Given the description of an element on the screen output the (x, y) to click on. 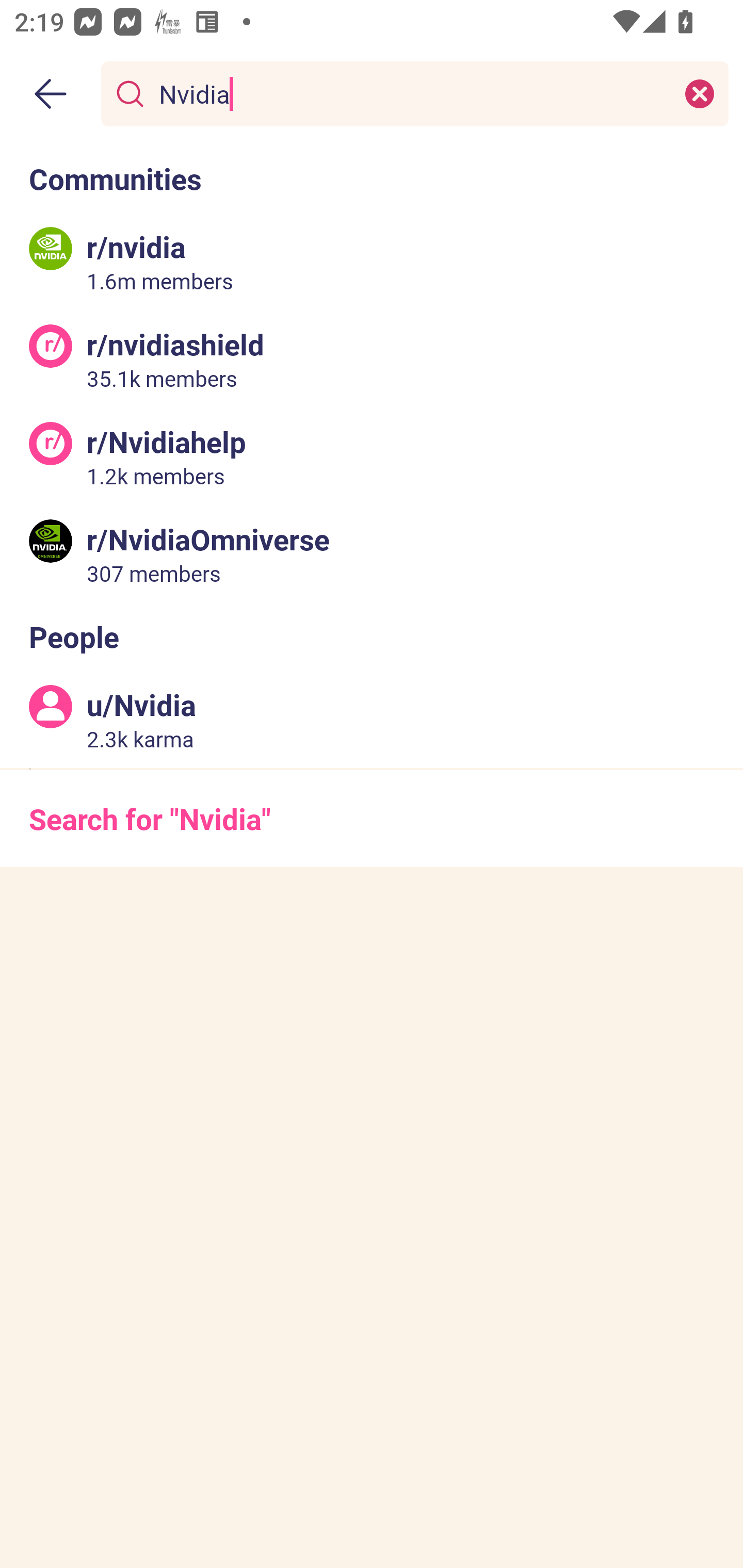
Back (50, 93)
Nvidia (410, 93)
Clear search (699, 93)
r/nvidia 1.6m members 1.6 million members (371, 261)
r/nvidiashield 35.1k members 35.1 thousand members (371, 358)
r/Nvidiahelp 1.2k members 1.2 thousand members (371, 455)
r/NvidiaOmniverse 307 members 307 members (371, 553)
u/Nvidia 2.3k karma 2.3 thousand karma (371, 719)
Search for "Nvidia" (371, 818)
